Given the description of an element on the screen output the (x, y) to click on. 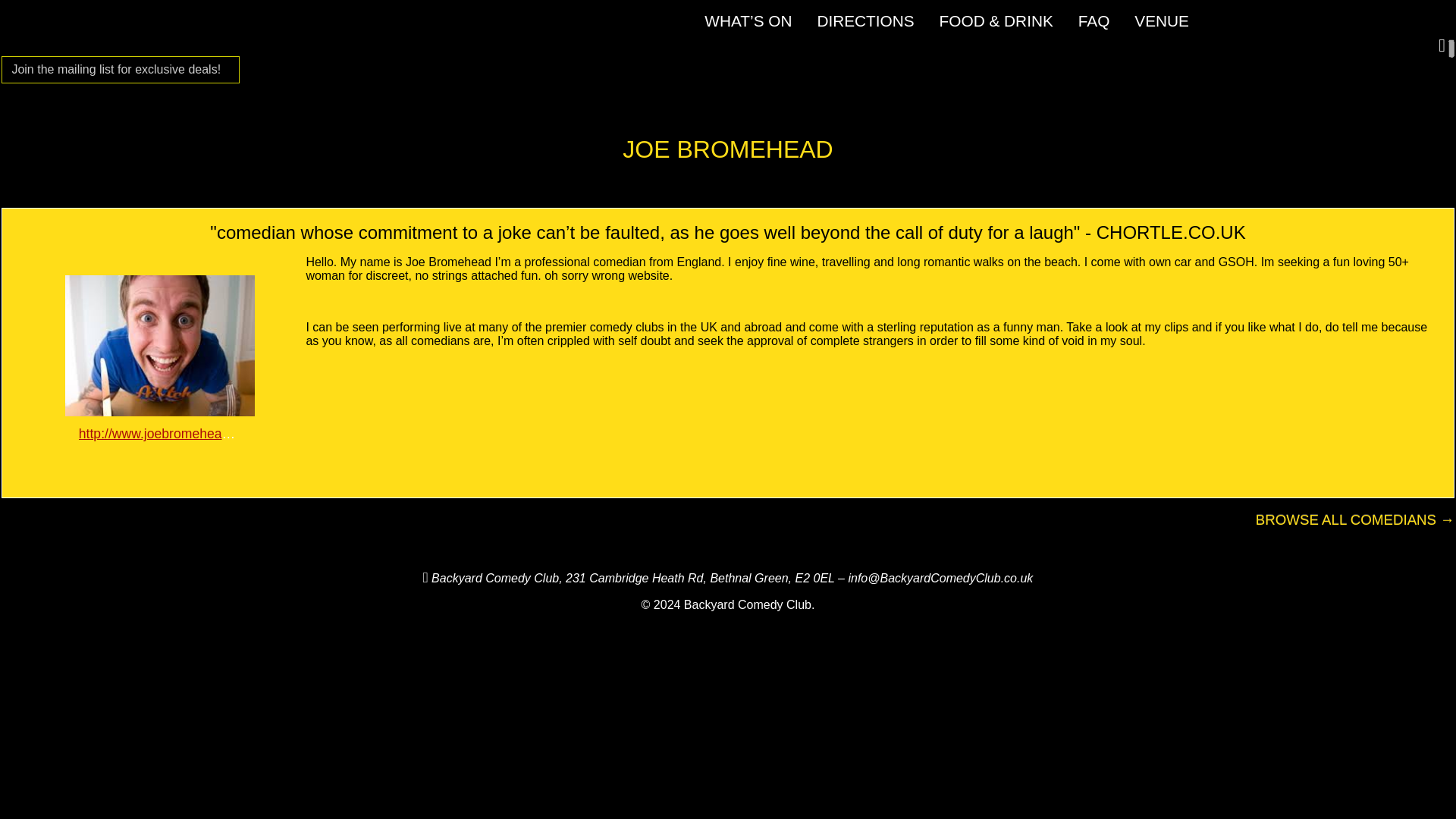
VENUE (1161, 20)
DIRECTIONS (865, 20)
FAQ (1094, 20)
Join the mailing list for exclusive deals! (116, 69)
